Given the description of an element on the screen output the (x, y) to click on. 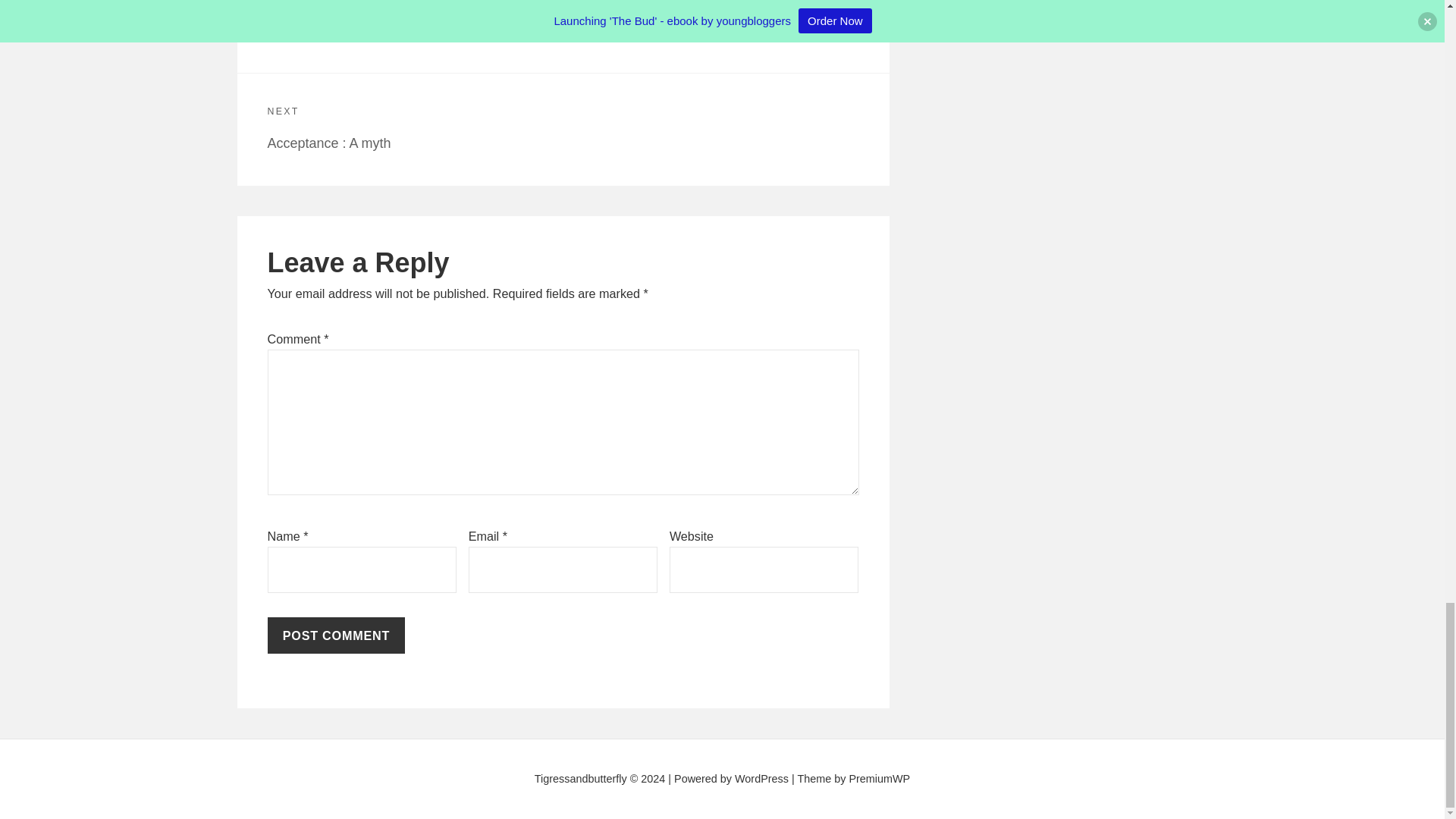
Post Comment (335, 635)
Post Comment (561, 128)
